Given the description of an element on the screen output the (x, y) to click on. 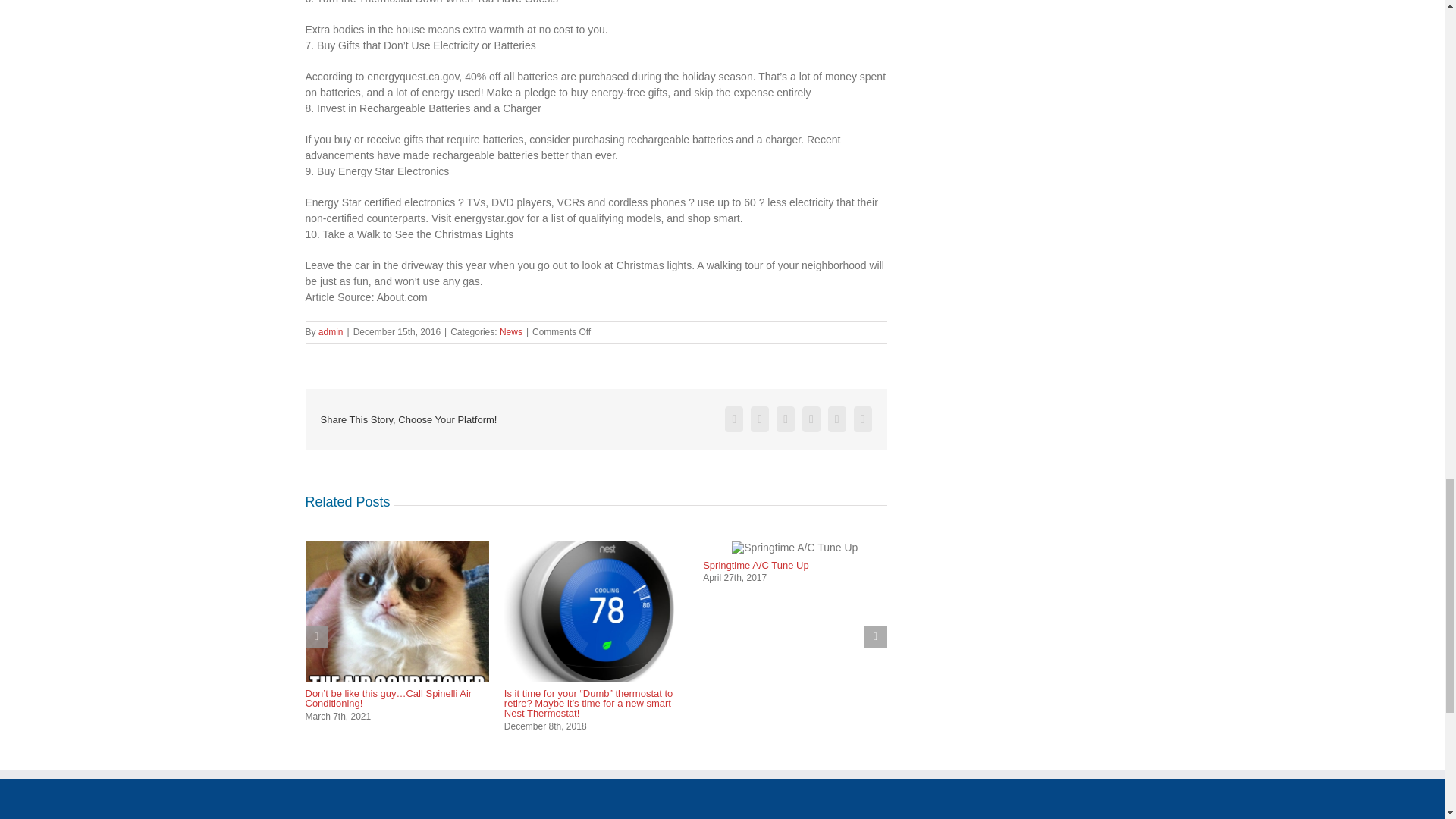
News (510, 331)
admin (330, 331)
Posts by admin (330, 331)
